Given the description of an element on the screen output the (x, y) to click on. 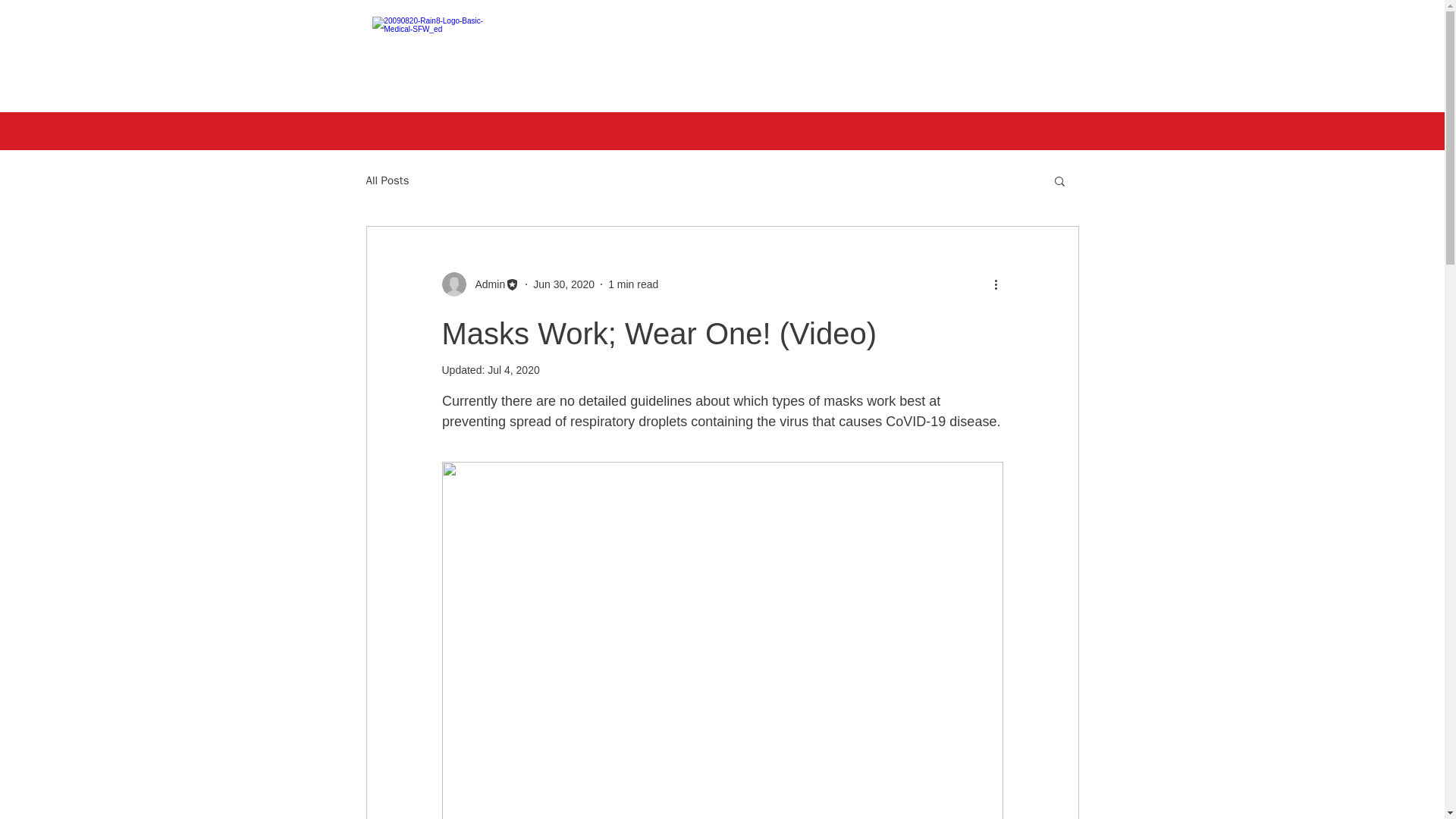
Jul 4, 2020 (513, 369)
Jun 30, 2020 (563, 283)
All Posts (387, 179)
Admin (485, 283)
1 min read (633, 283)
Admin (480, 283)
